Given the description of an element on the screen output the (x, y) to click on. 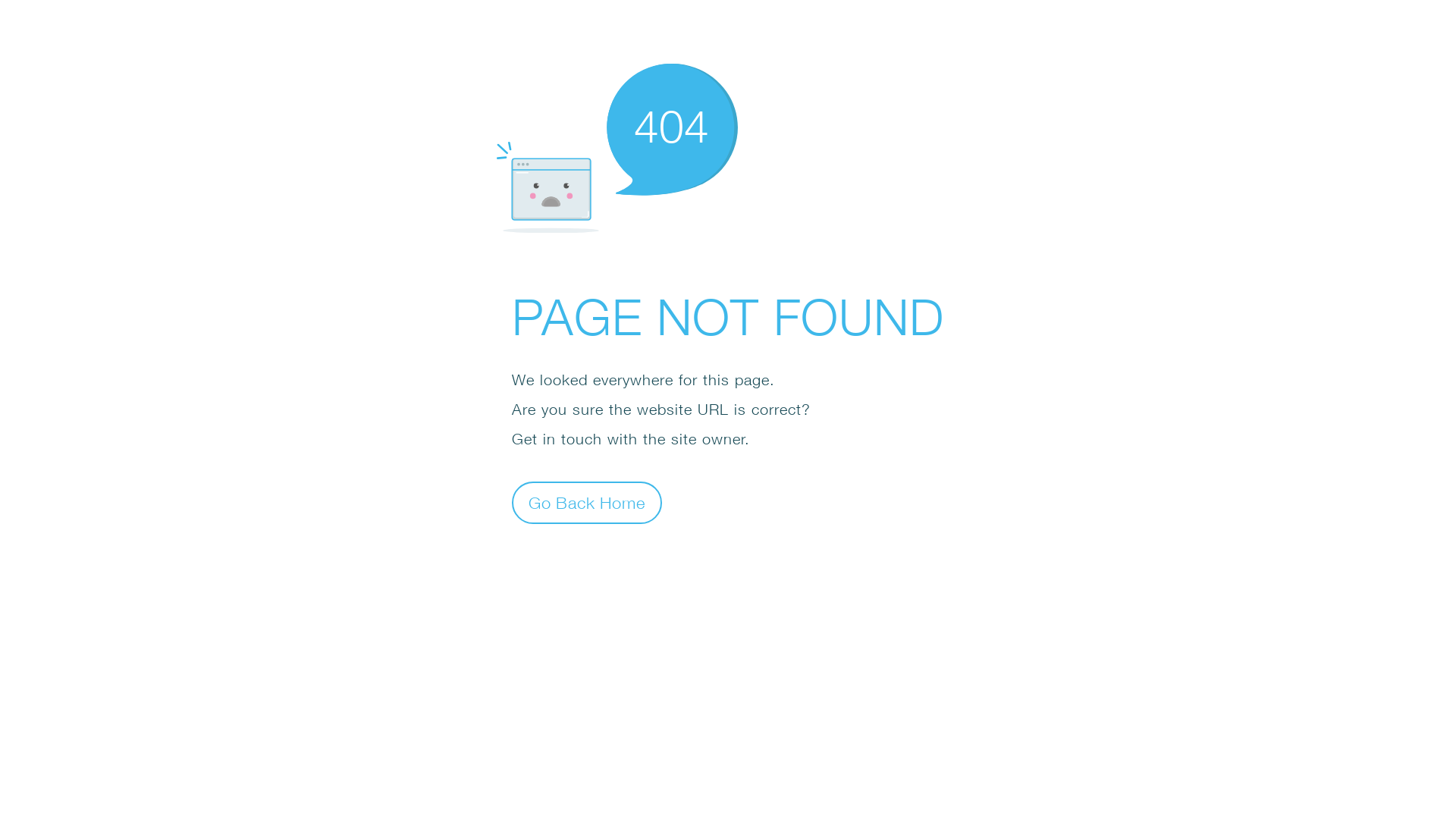
Go Back Home Element type: text (586, 502)
